Given the description of an element on the screen output the (x, y) to click on. 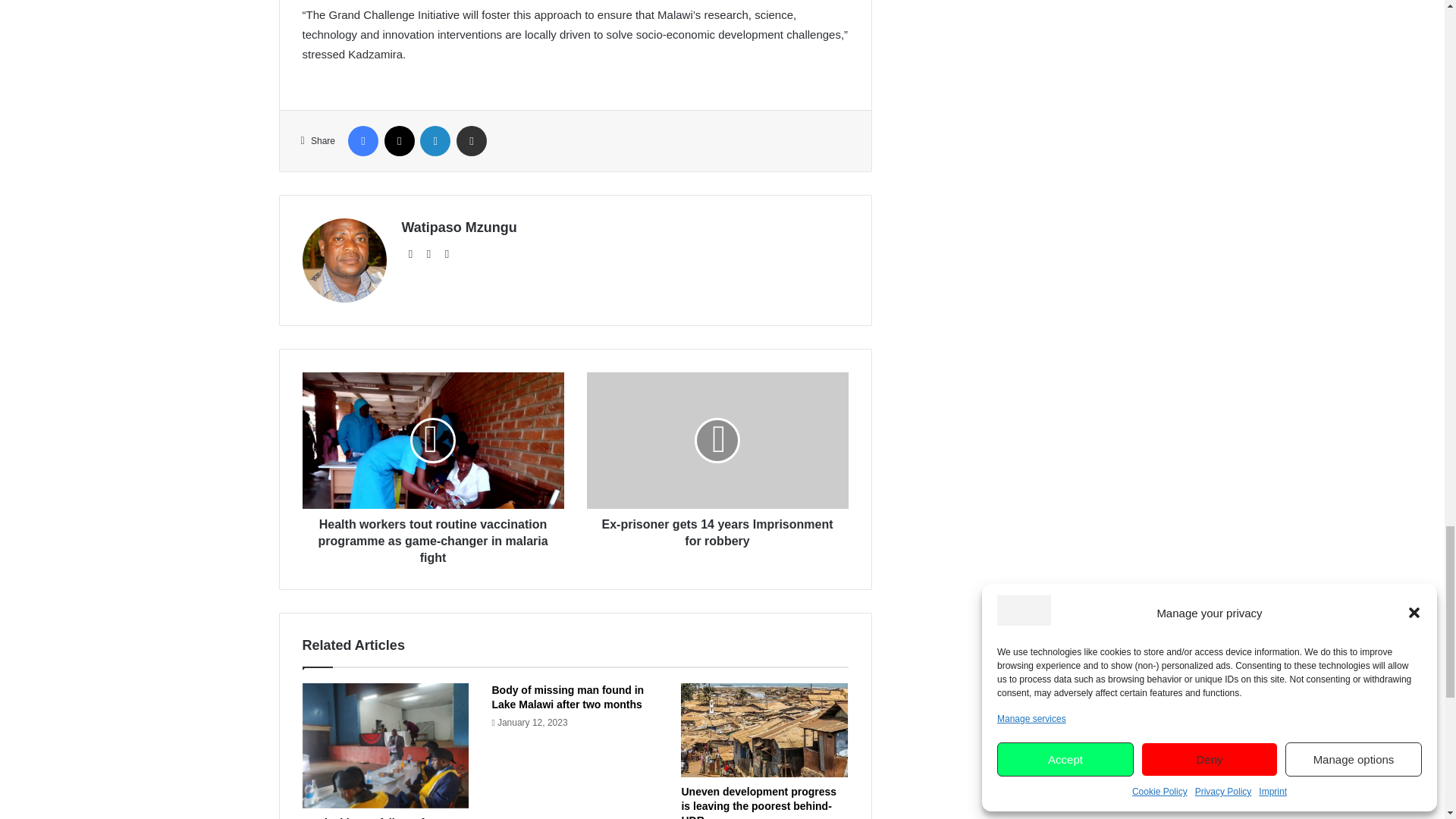
Facebook (362, 141)
Share via Email (471, 141)
X (399, 141)
LinkedIn (434, 141)
